Given the description of an element on the screen output the (x, y) to click on. 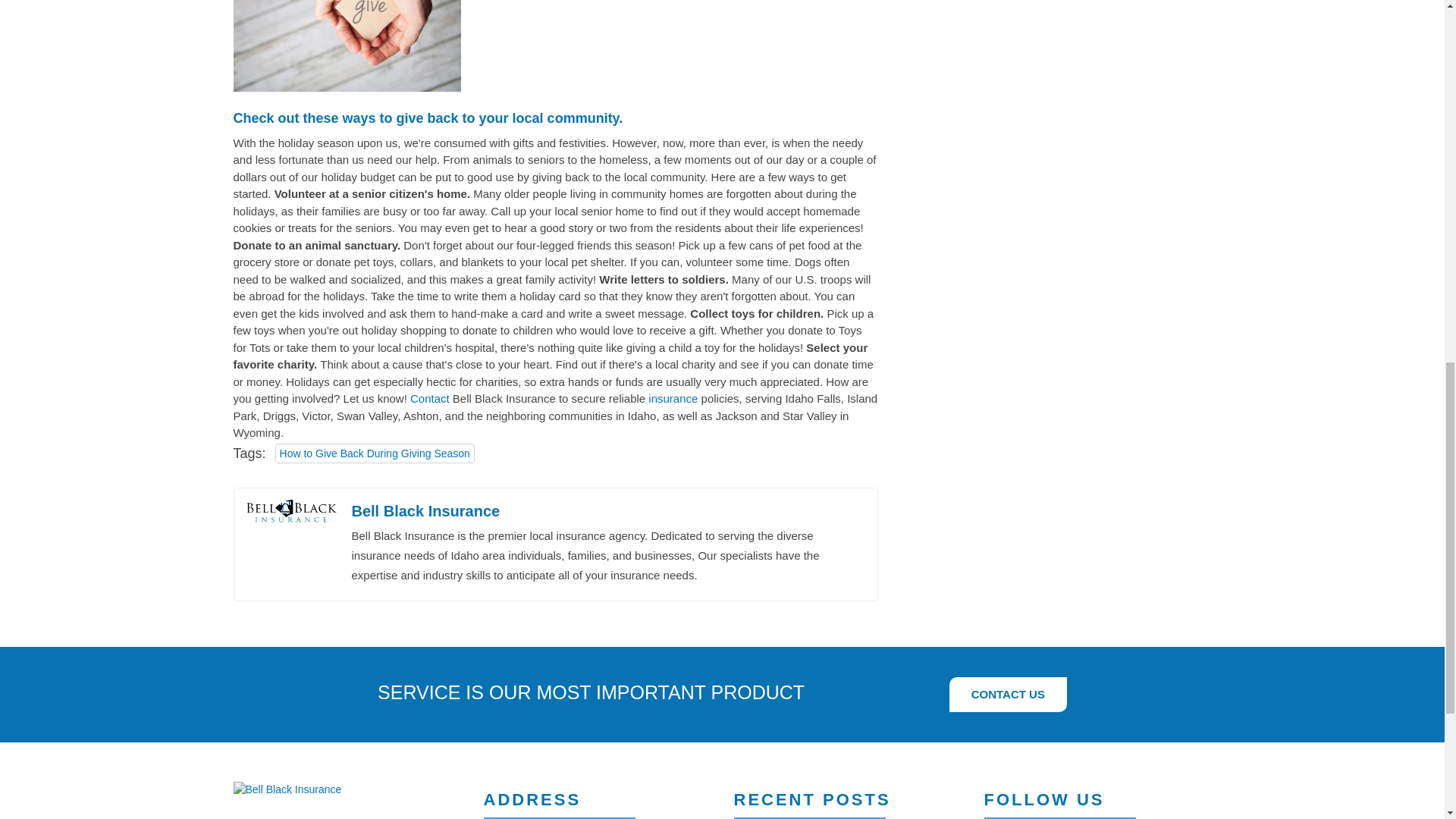
Contact (429, 398)
CONTACT US (1009, 694)
Bell Black Insurance (287, 789)
Bell Black Insurance (426, 510)
insurance (672, 398)
See all posts in How to Give Back During Giving Season (374, 453)
How to Give Back During Giving Season (374, 453)
